Given the description of an element on the screen output the (x, y) to click on. 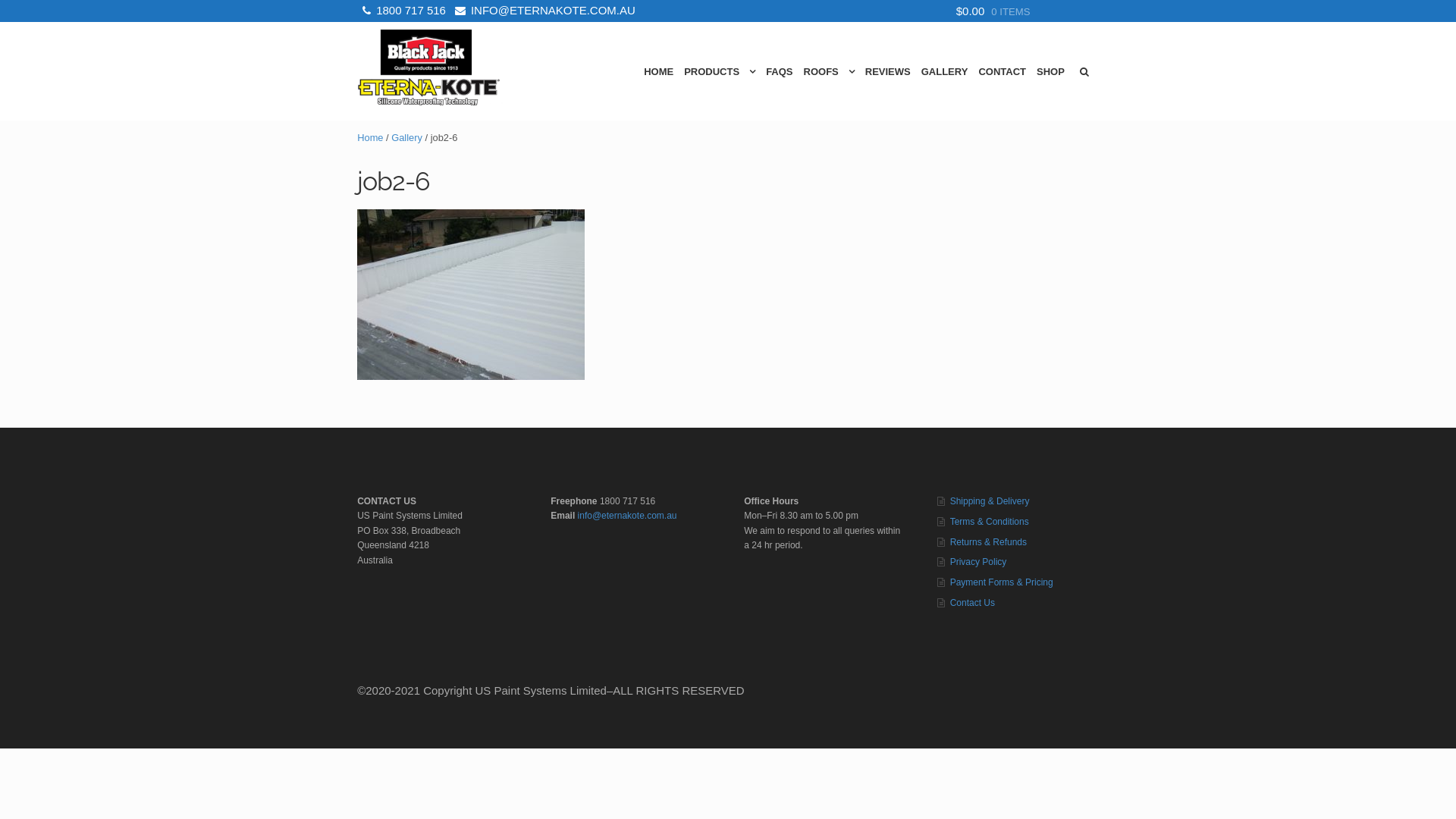
FAQS Element type: text (778, 71)
INFO@ETERNAKOTE.COM.AU Element type: text (542, 9)
Privacy Policy Element type: text (978, 561)
CONTACT Element type: text (1001, 71)
Contact Us Element type: text (972, 602)
GALLERY Element type: text (944, 71)
1800 717 516 Element type: text (401, 9)
SHOP Element type: text (1050, 71)
info@eternakote.com.au Element type: text (627, 515)
Home Element type: text (369, 137)
Terms & Conditions Element type: text (989, 521)
Shipping & Delivery Element type: text (989, 500)
Skip to navigation Element type: text (356, 71)
$0.00 0 ITEMS Element type: text (1024, 10)
Payment Forms & Pricing Element type: text (1001, 582)
Gallery Element type: text (406, 137)
REVIEWS Element type: text (887, 71)
PRODUCTS Element type: text (719, 71)
HOME Element type: text (658, 71)
ROOFS Element type: text (828, 71)
Returns & Refunds Element type: text (988, 541)
